Given the description of an element on the screen output the (x, y) to click on. 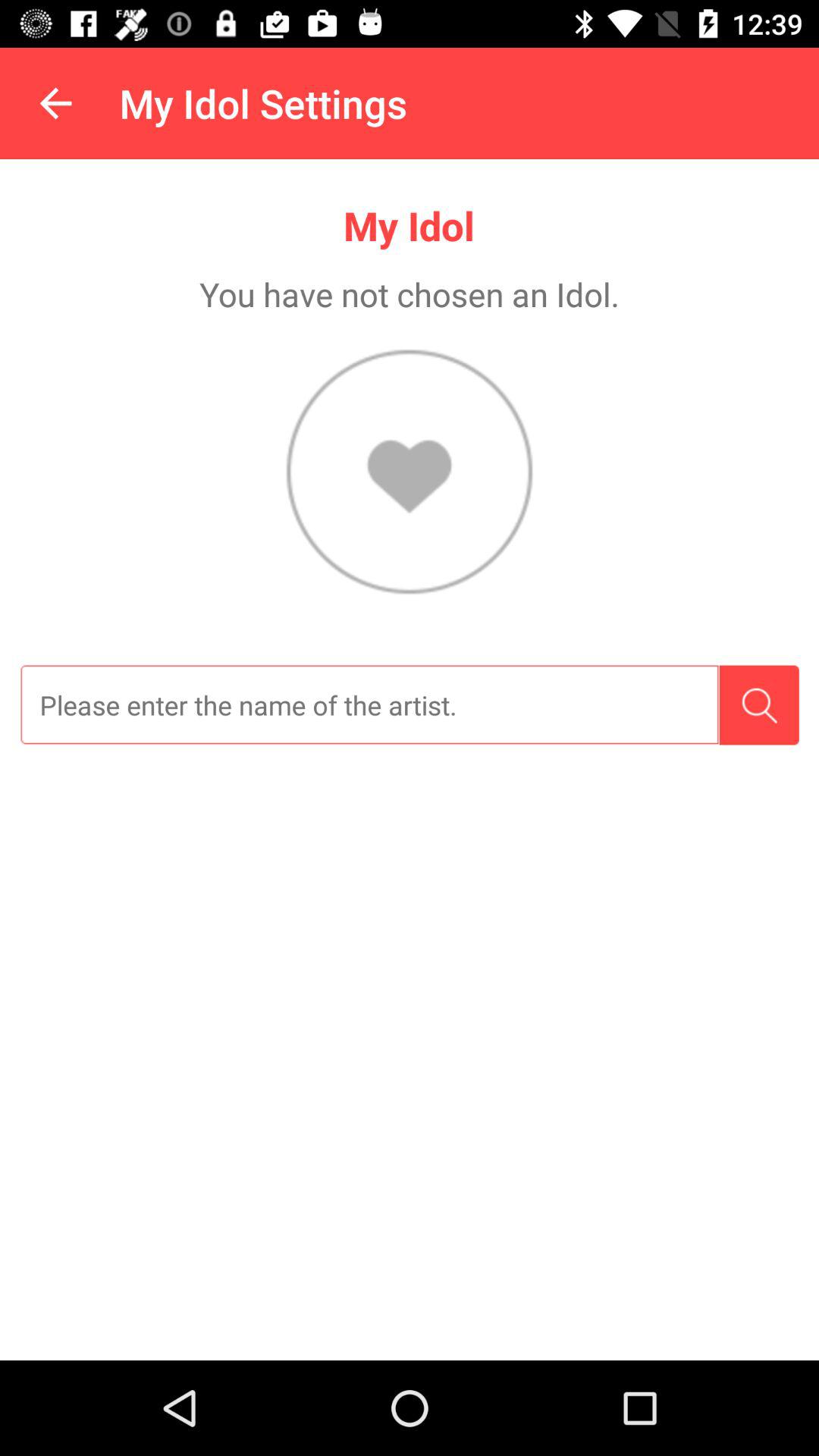
choose the item at the center (369, 705)
